Given the description of an element on the screen output the (x, y) to click on. 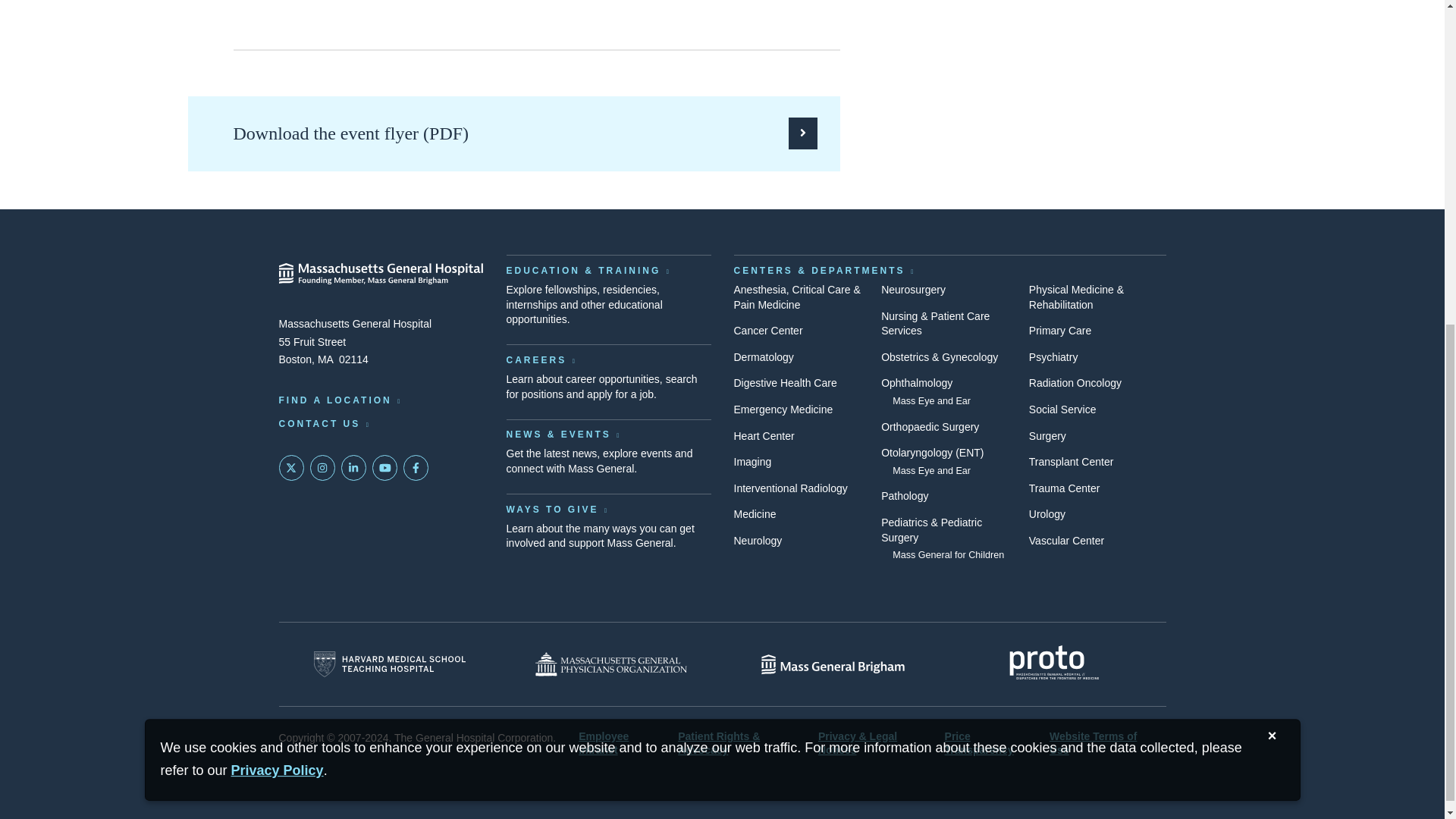
CAREERS (541, 359)
CONTACT US (325, 423)
Privacy Policy (277, 231)
WAYS TO GIVE (558, 509)
Massachusetts General Hospital - Home (381, 273)
FIND A LOCATION (341, 399)
